Given the description of an element on the screen output the (x, y) to click on. 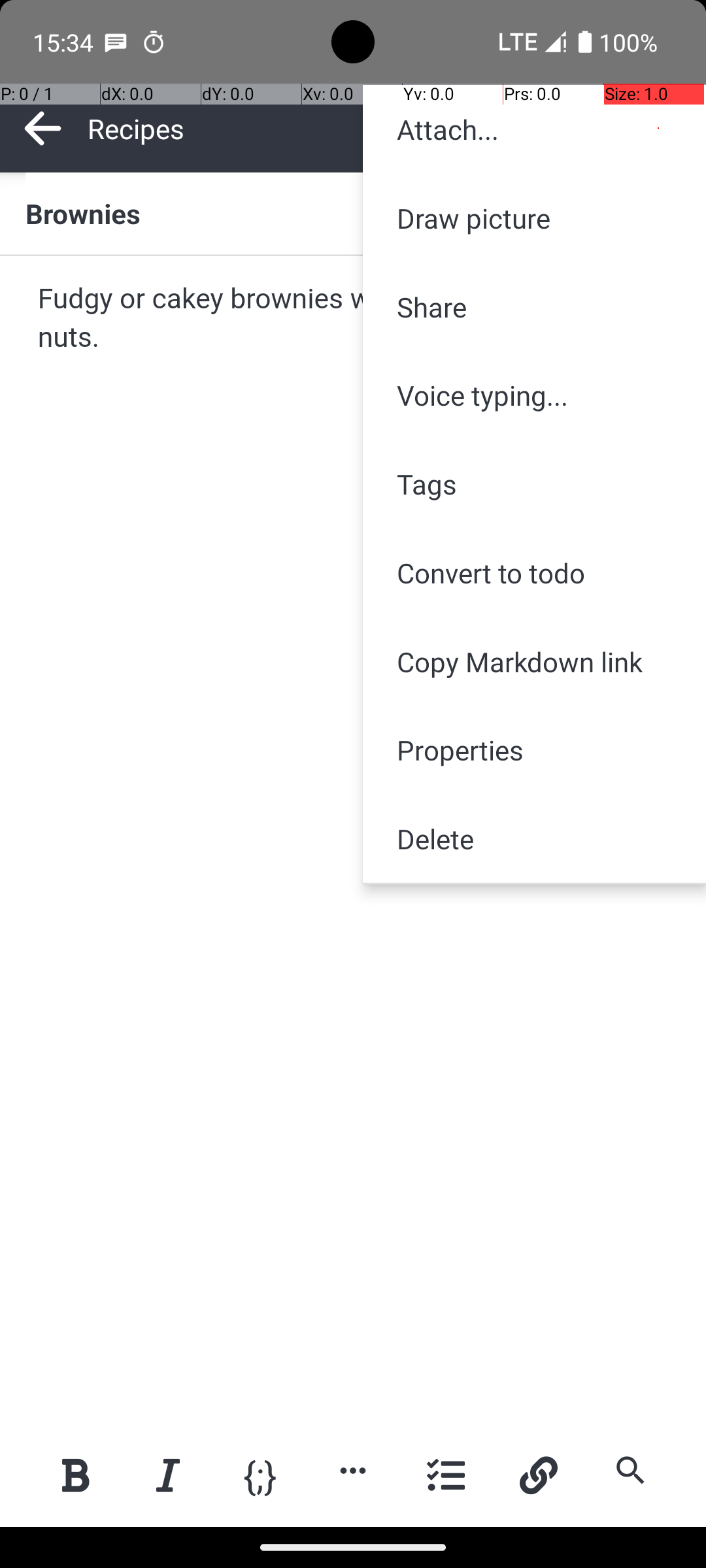
Brownies Element type: android.widget.EditText (352, 213)
Convert to todo Element type: android.widget.TextView (534, 572)
Fudgy or cakey brownies with chocolate chips or nuts. Element type: android.widget.EditText (354, 318)
